Given the description of an element on the screen output the (x, y) to click on. 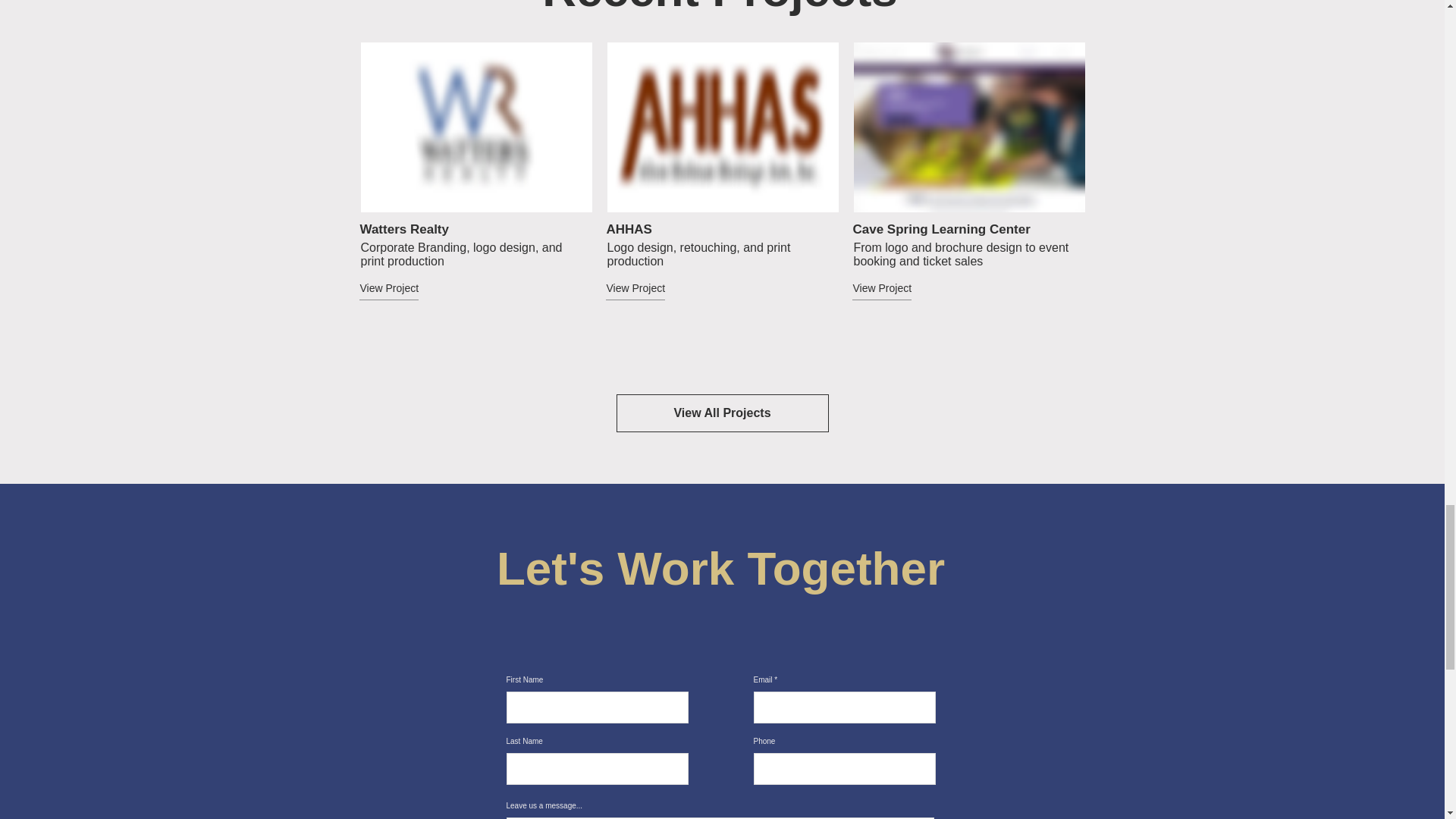
View All Projects (721, 412)
View Project (413, 288)
View Project (660, 288)
wrLogo.png (476, 127)
ahhasLogo.png (722, 127)
cslcMain.png (968, 127)
View Project (905, 288)
